Given the description of an element on the screen output the (x, y) to click on. 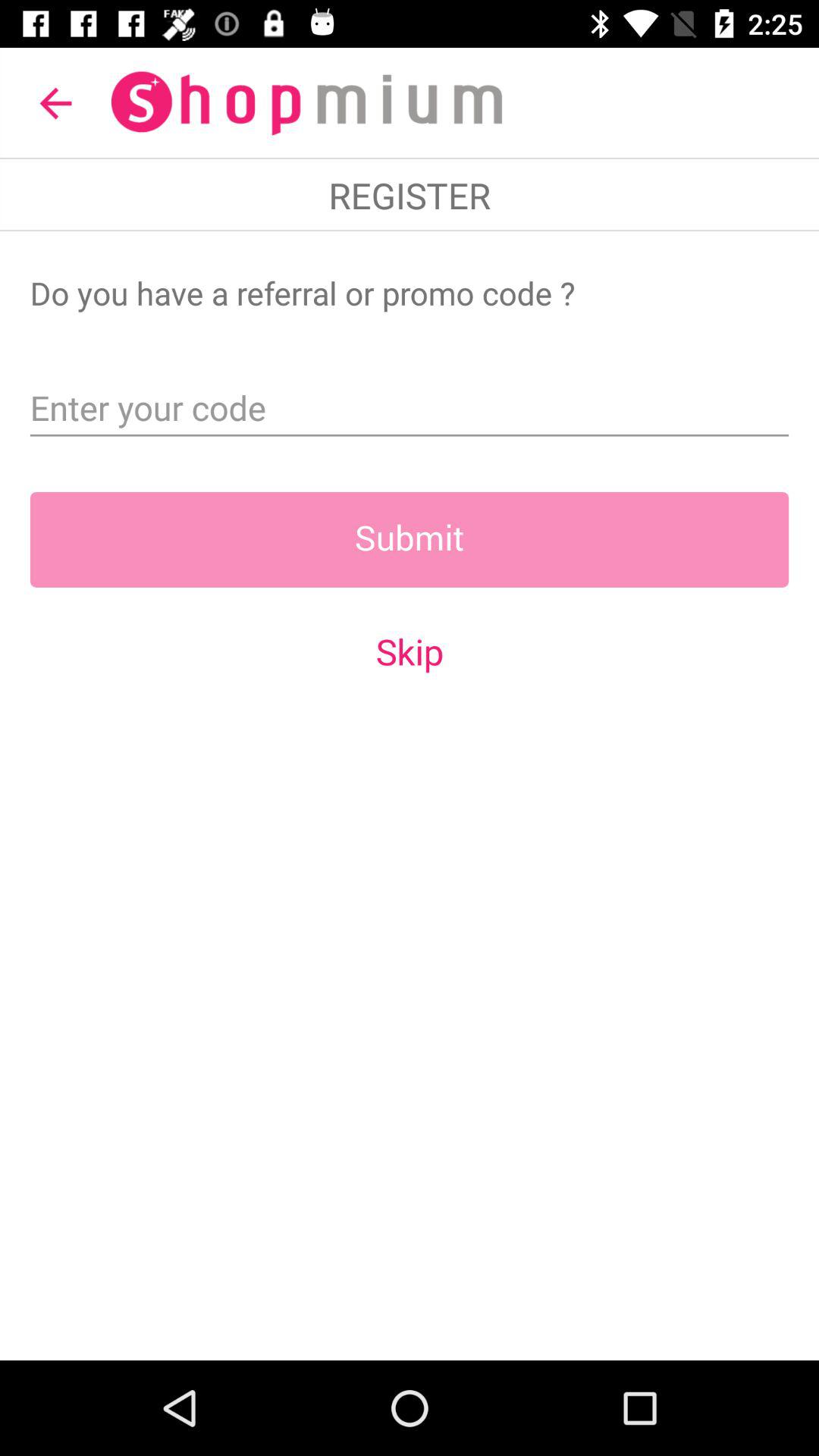
open the submit (409, 539)
